Given the description of an element on the screen output the (x, y) to click on. 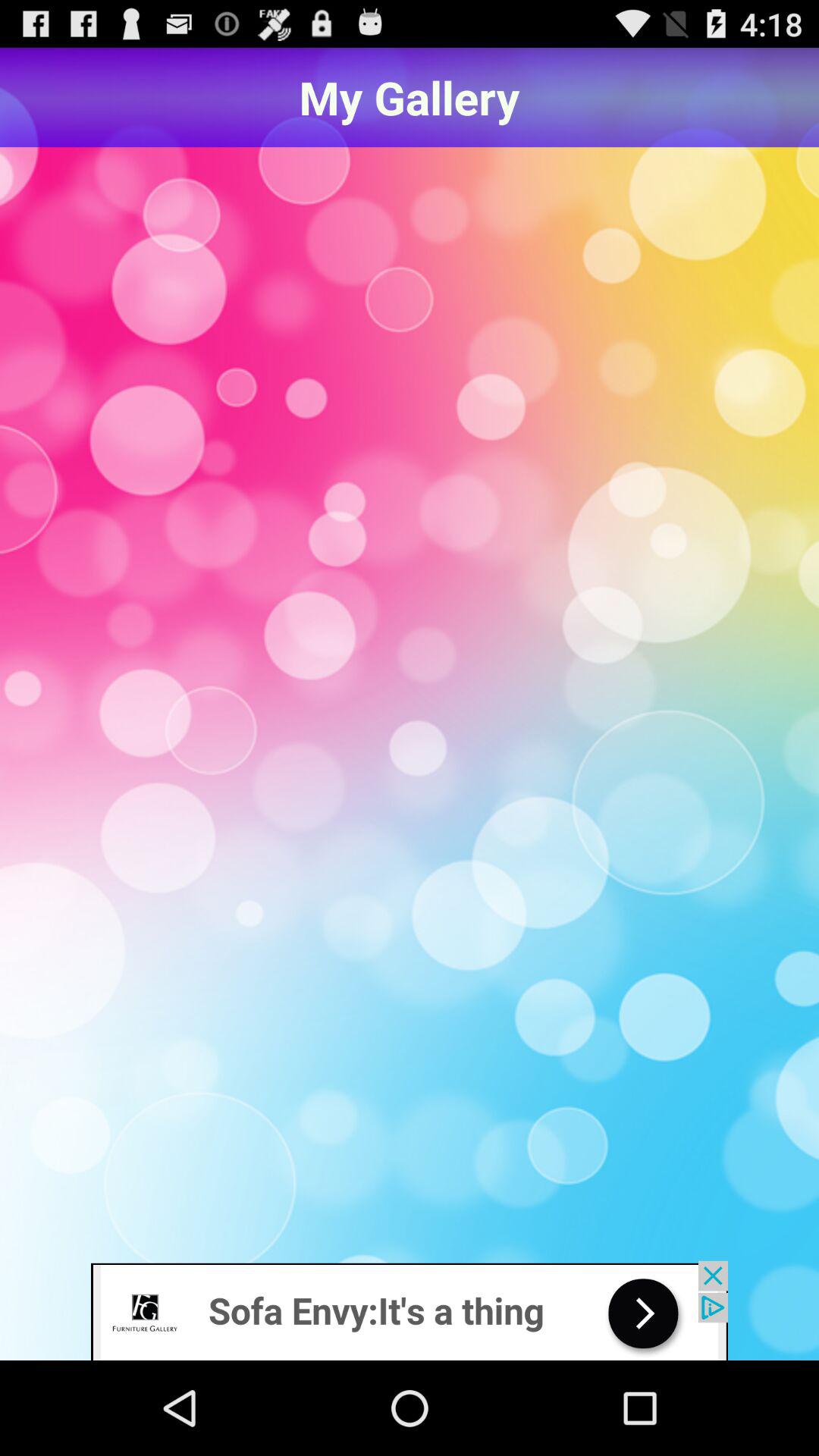
google advertisements (409, 1310)
